Given the description of an element on the screen output the (x, y) to click on. 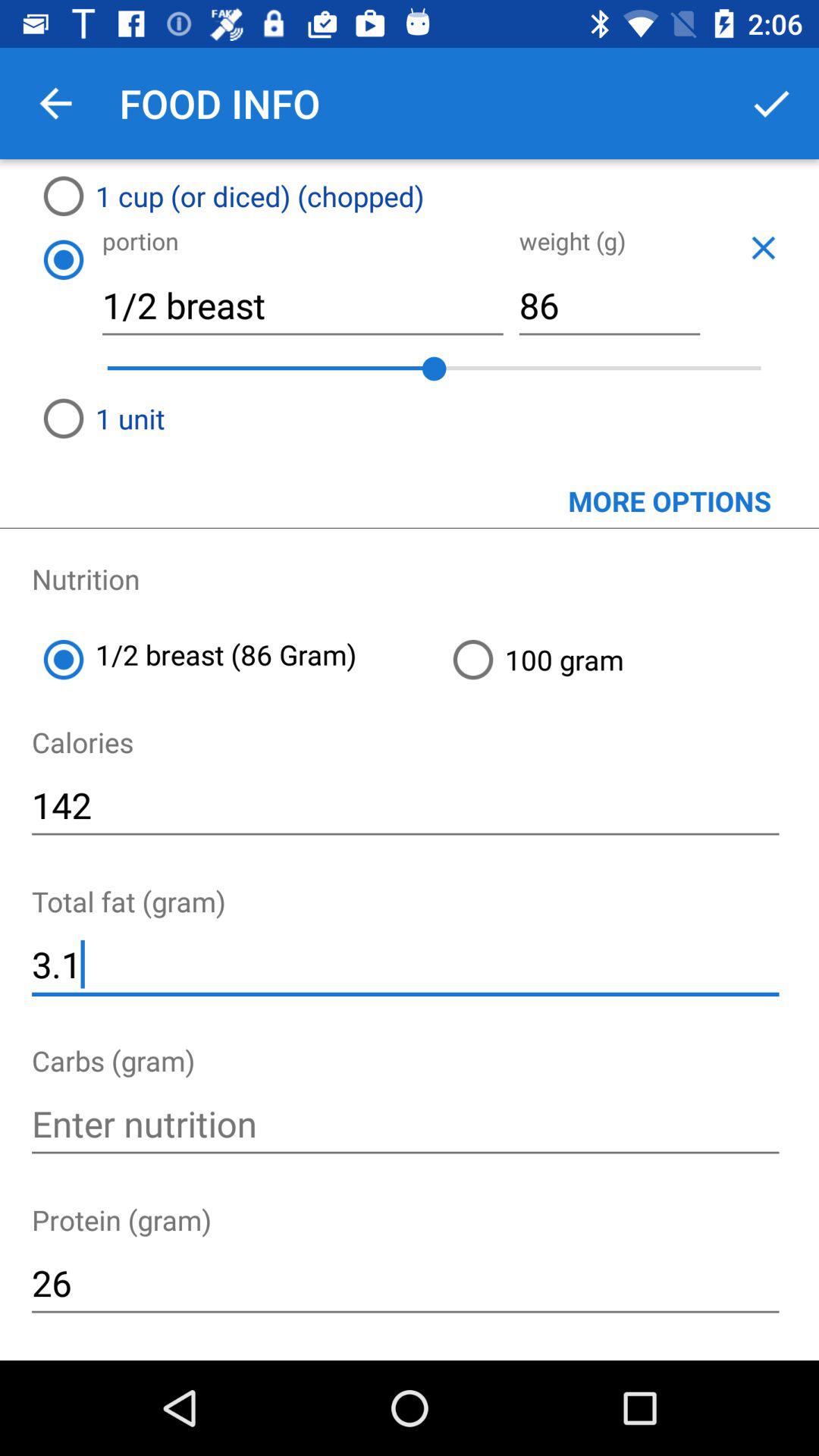
switch tick option (771, 103)
